Given the description of an element on the screen output the (x, y) to click on. 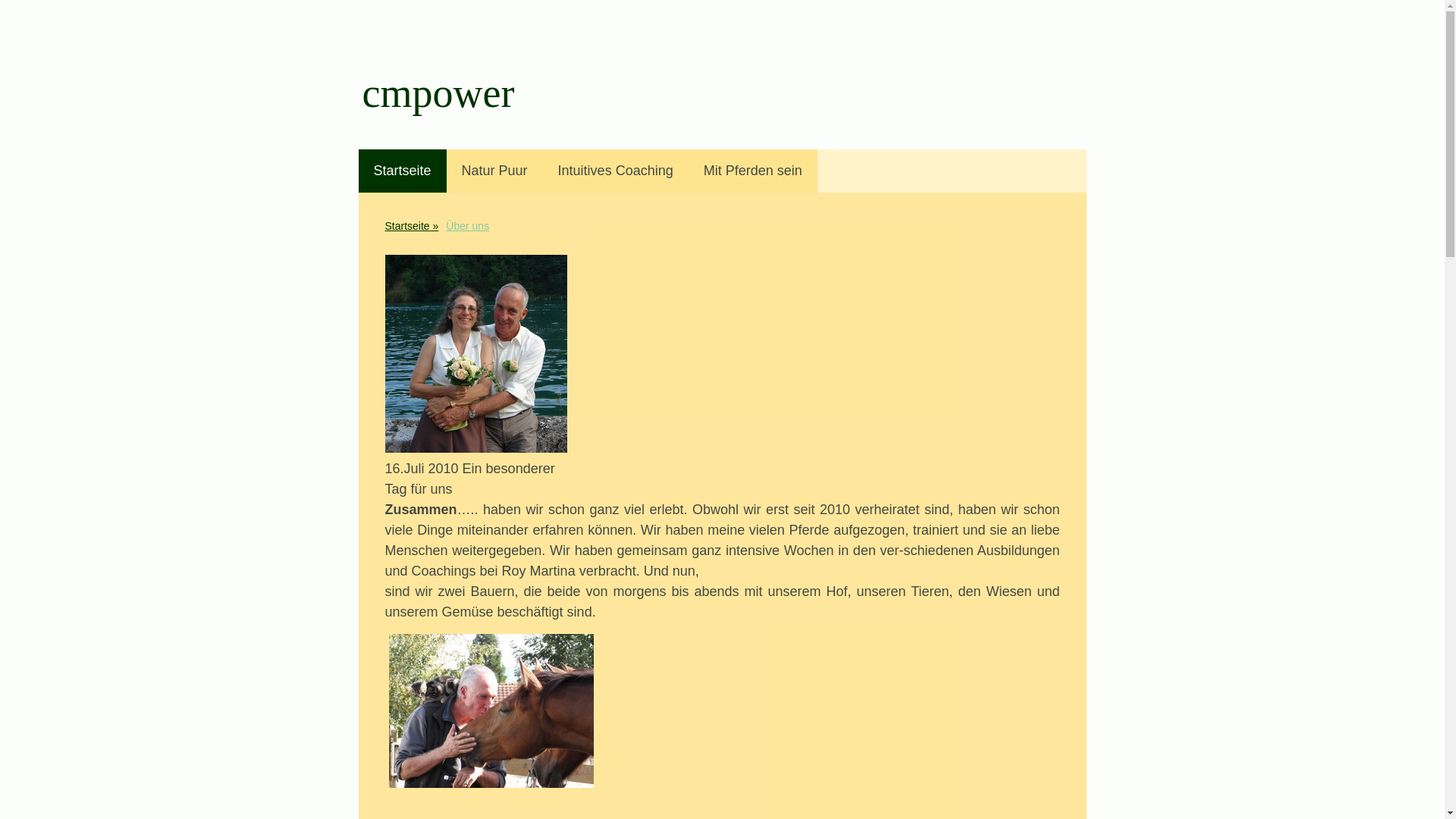
Intuitives Coaching Element type: text (615, 170)
Mit Pferden sein Element type: text (752, 170)
Startseite Element type: text (411, 225)
Natur Puur Element type: text (494, 170)
cmpower Element type: text (438, 101)
Startseite Element type: text (401, 170)
